Given the description of an element on the screen output the (x, y) to click on. 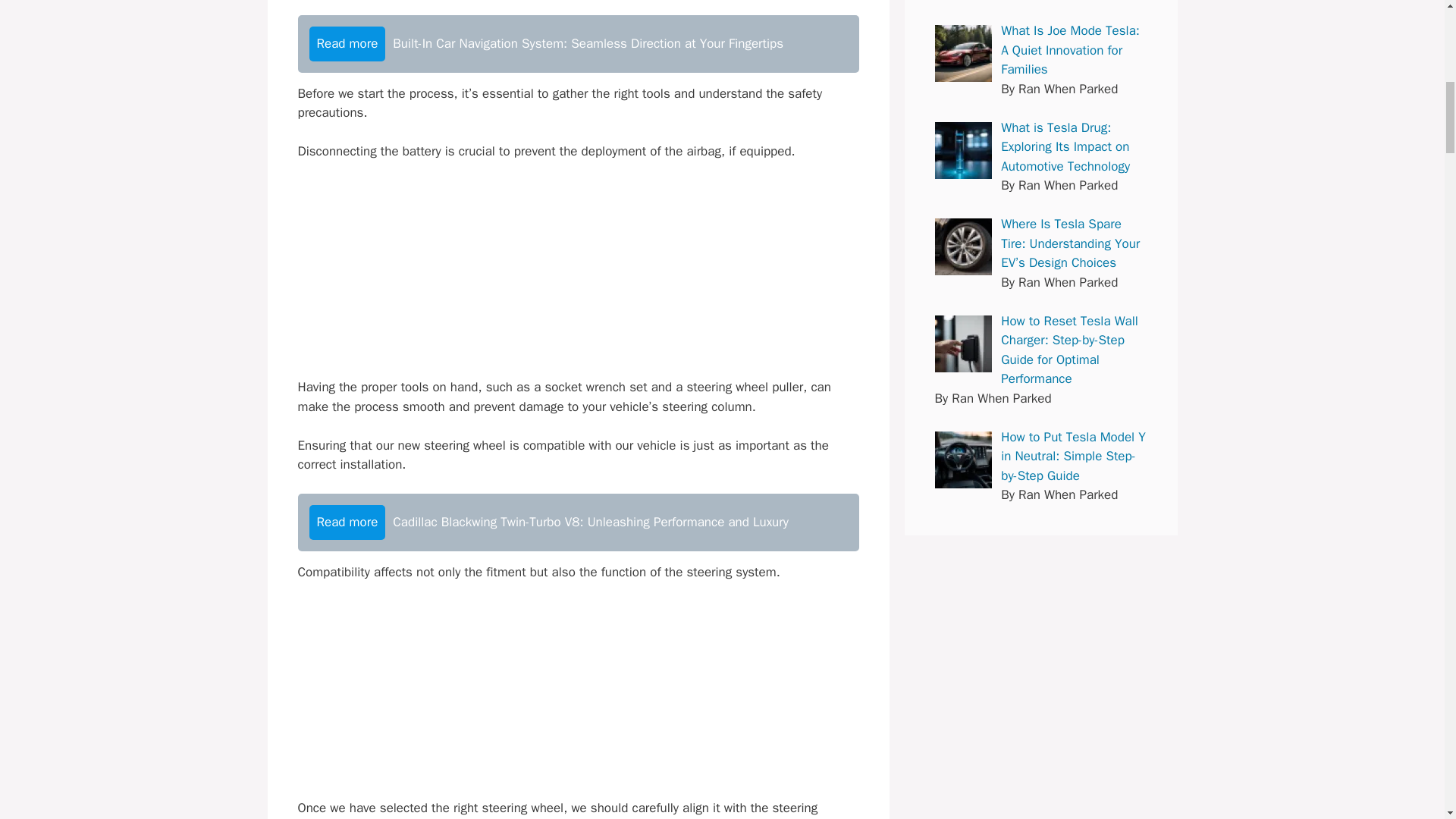
What Is Joe Mode Tesla: A Quiet Innovation for Families (962, 53)
